Given the description of an element on the screen output the (x, y) to click on. 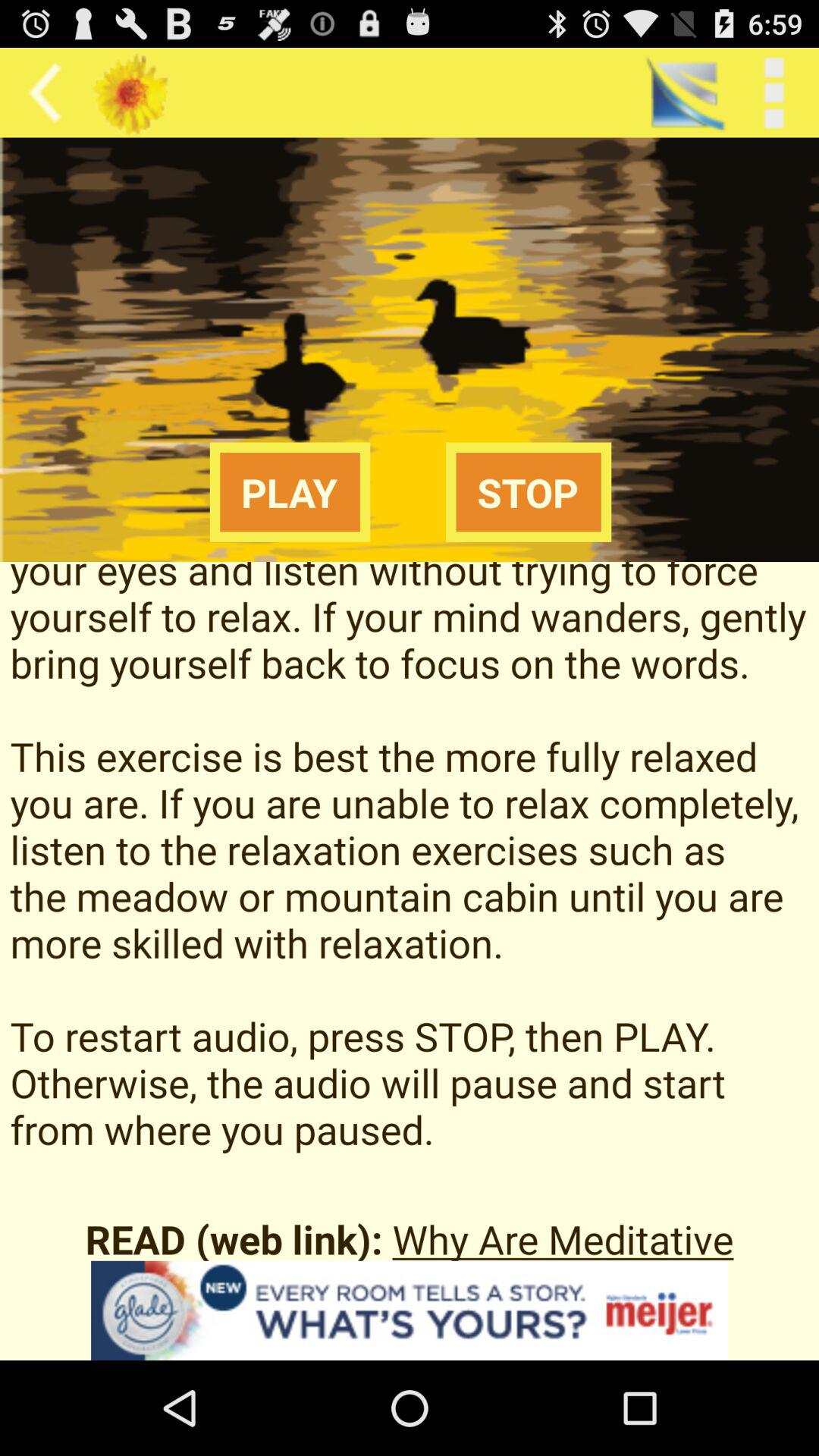
advertisement (409, 1310)
